Given the description of an element on the screen output the (x, y) to click on. 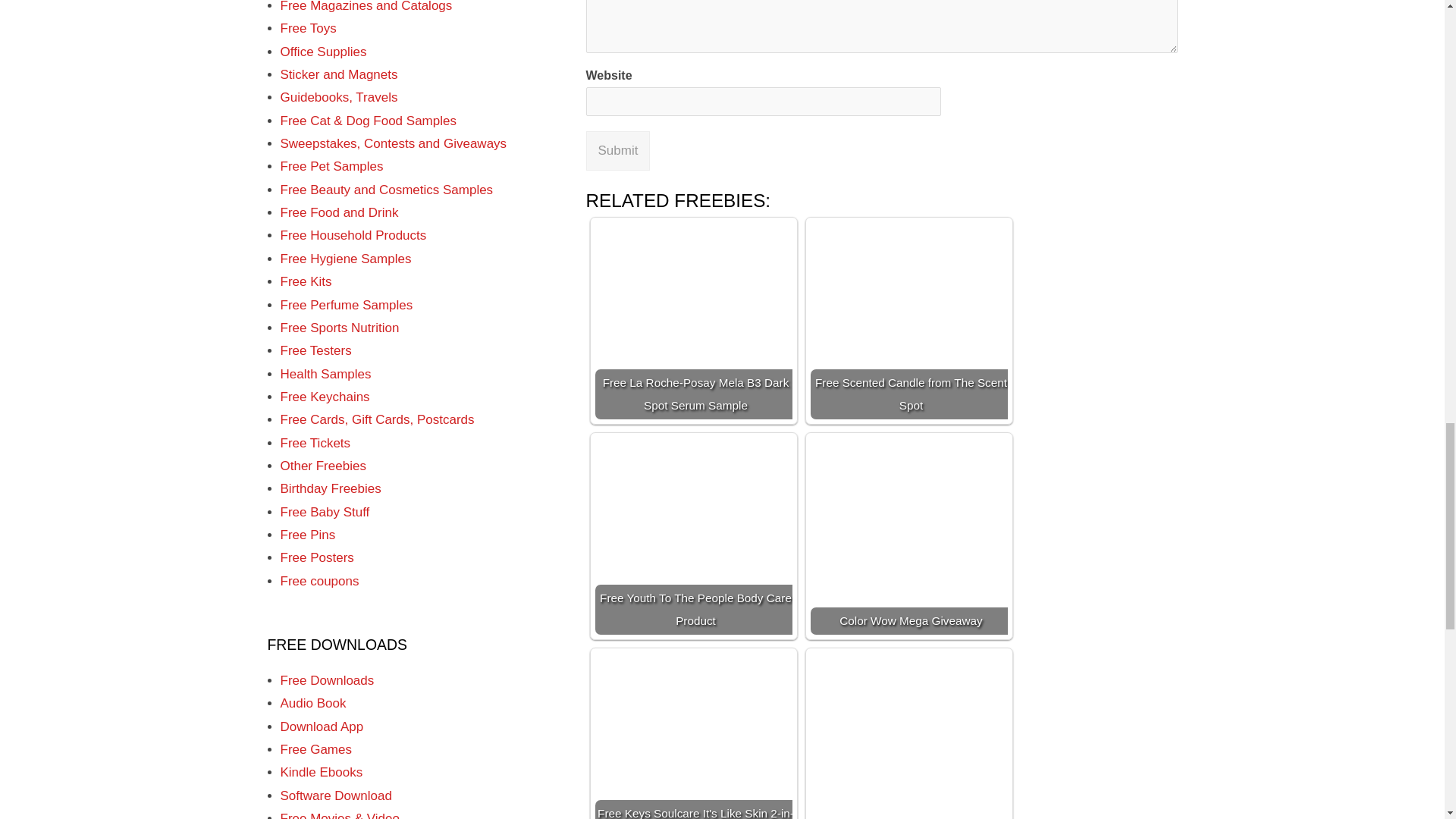
Free Youth To The People Body Care Product (693, 535)
Free La Roche-Posay Mela B3 Dark Spot Serum Sample (693, 320)
USB Flash (311, 20)
Free Books (313, 65)
Free Youth To The People Body Care Product (693, 535)
Color Wow Mega Giveaway (908, 535)
Free Scented Candle from The Scent Spot (908, 320)
Color Wow Mega Giveaway (908, 535)
Free La Roche-Posay Mela B3 Dark Spot Serum Sample (693, 320)
Submit (617, 150)
